Given the description of an element on the screen output the (x, y) to click on. 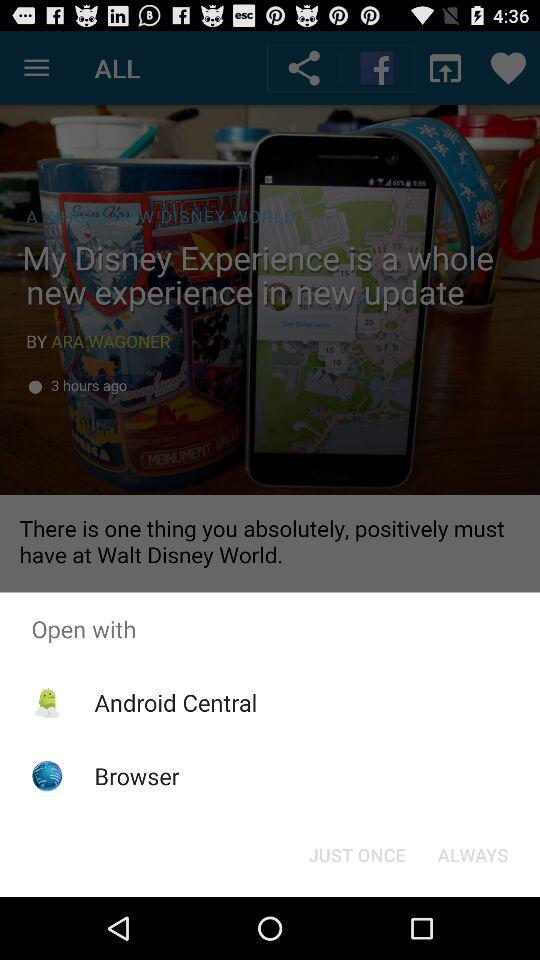
tap the item to the left of the always (356, 854)
